Given the description of an element on the screen output the (x, y) to click on. 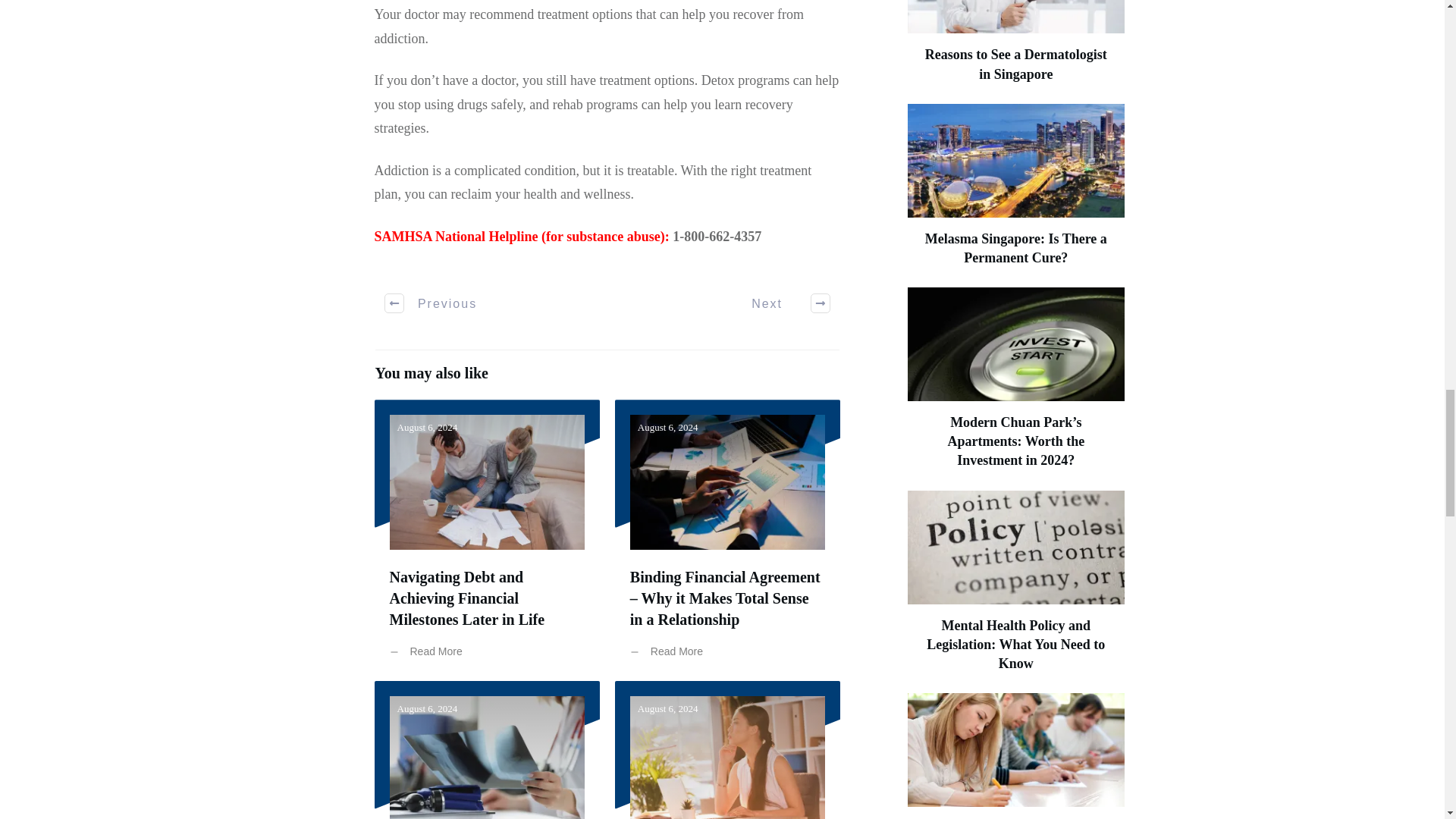
Previous (430, 303)
Read More (430, 651)
Next (782, 303)
Read More (670, 651)
